Given the description of an element on the screen output the (x, y) to click on. 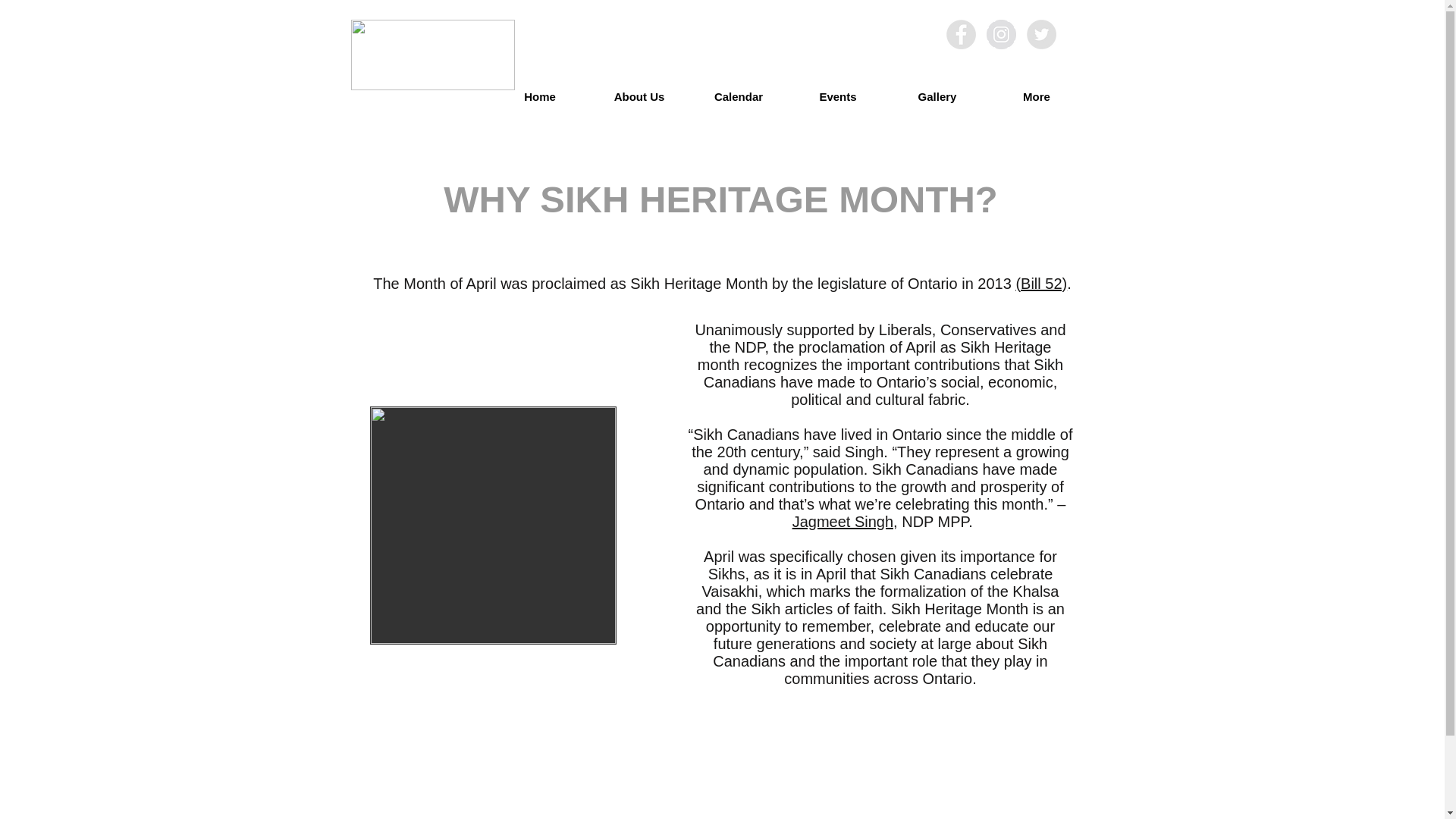
sikh-heritage-month-celebration-hamilton.jpg (492, 525)
Calendar (737, 96)
About Us (638, 96)
Events (838, 96)
Home (539, 96)
Jagmeet Singh, (845, 521)
